Given the description of an element on the screen output the (x, y) to click on. 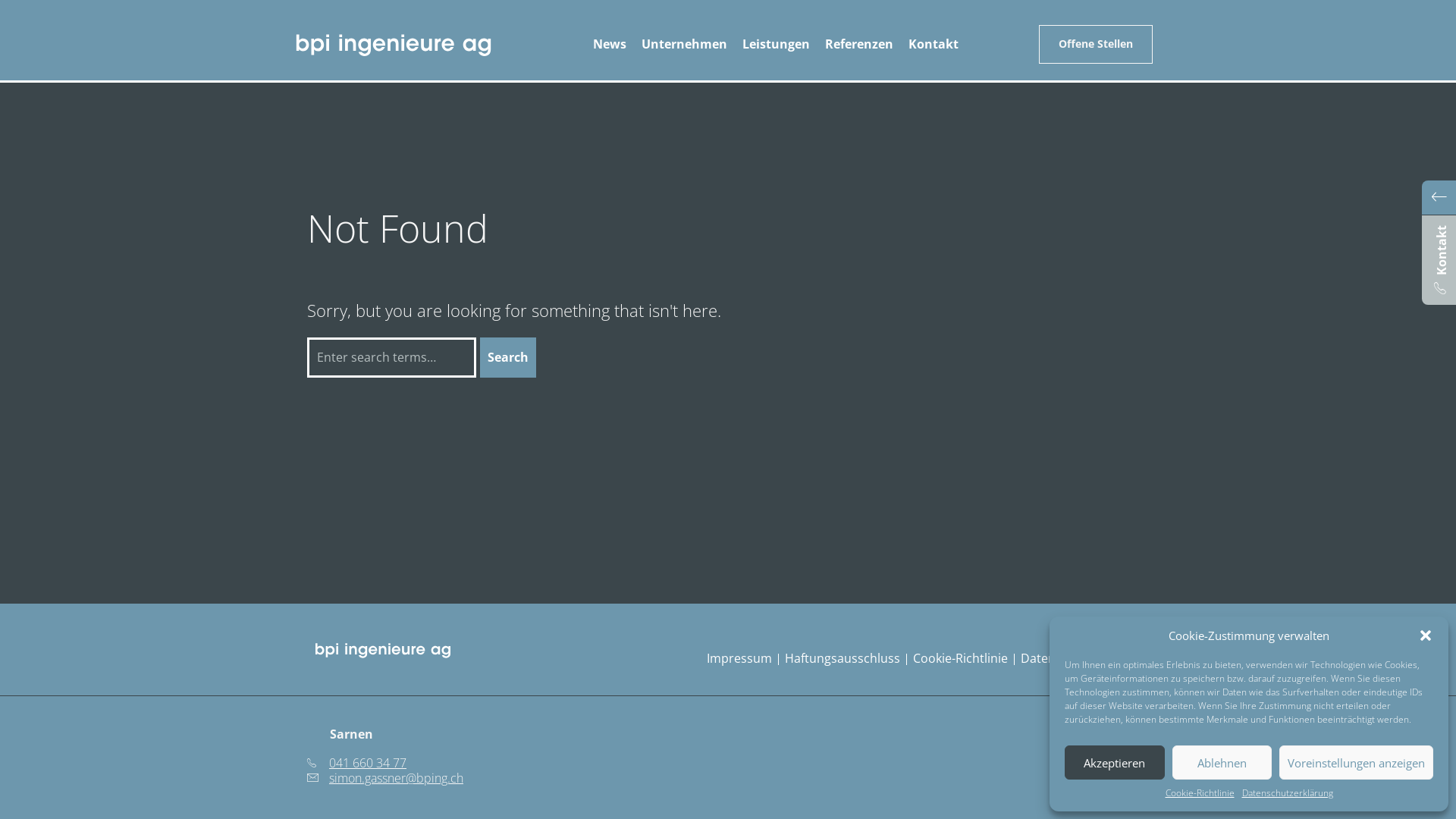
Kontakt Element type: text (933, 44)
Cookie-Richtlinie Element type: text (1198, 793)
041 660 34 77 Element type: text (356, 763)
News Element type: text (609, 44)
Referenzen Element type: text (859, 44)
Voreinstellungen anzeigen Element type: text (1356, 762)
simon.gassner@bping.ch Element type: text (385, 778)
Unternehmen Element type: text (684, 44)
Impressum Element type: text (738, 657)
Haftungsausschluss Element type: text (842, 657)
Ablehnen Element type: text (1222, 762)
Leistungen Element type: text (775, 44)
Akzeptieren Element type: text (1114, 762)
Offene Stellen Element type: text (1095, 44)
Search Element type: text (508, 357)
Cookie-Richtlinie Element type: text (960, 657)
